Given the description of an element on the screen output the (x, y) to click on. 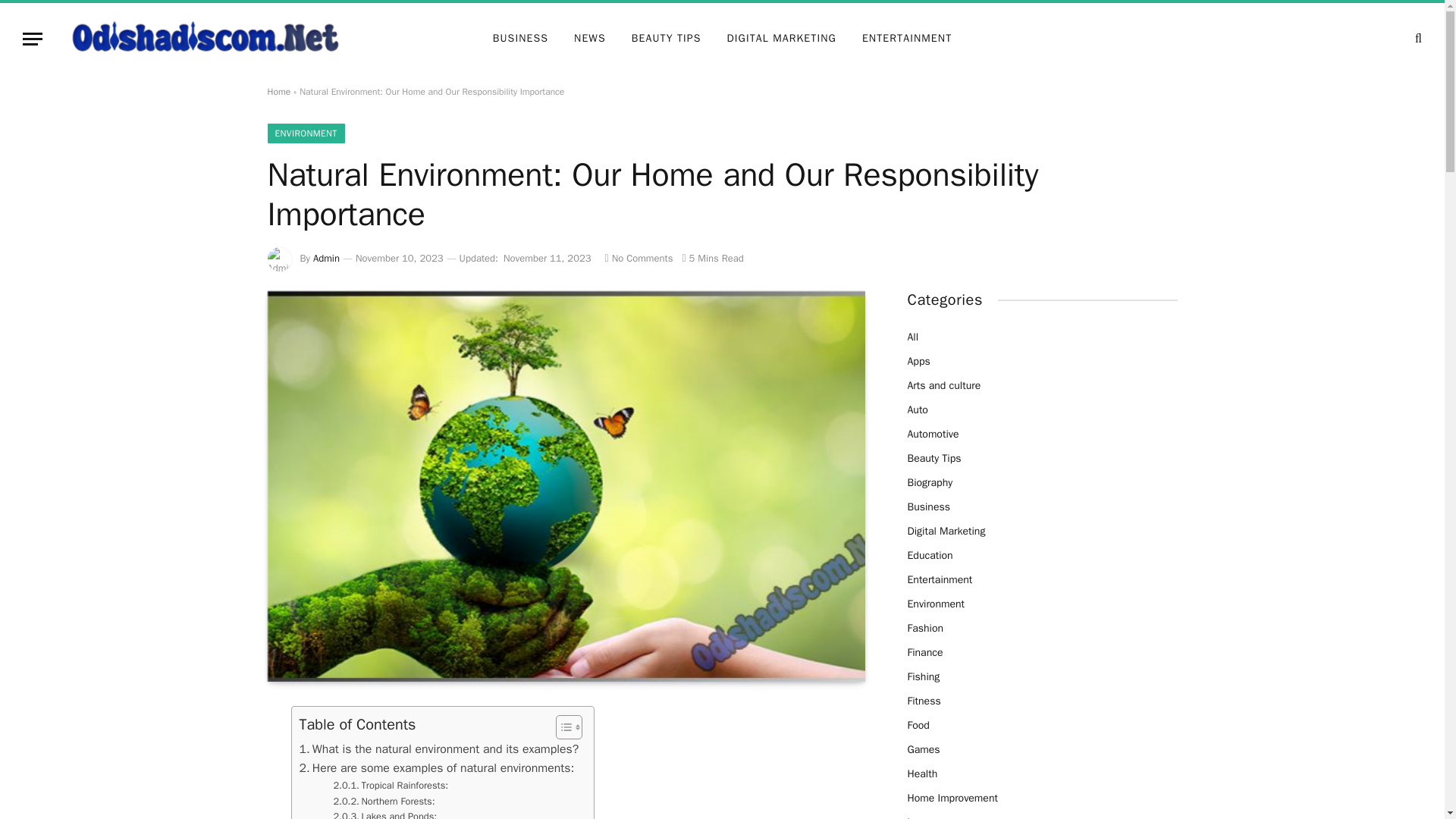
Here are some examples of natural environments: (435, 768)
No Comments (638, 257)
Posts by Admin (326, 257)
What is the natural environment and its examples? (438, 749)
ENVIRONMENT (304, 133)
DIGITAL MARKETING (781, 38)
BUSINESS (520, 38)
What is the natural environment and its examples? (438, 749)
BEAUTY TIPS (666, 38)
